Given the description of an element on the screen output the (x, y) to click on. 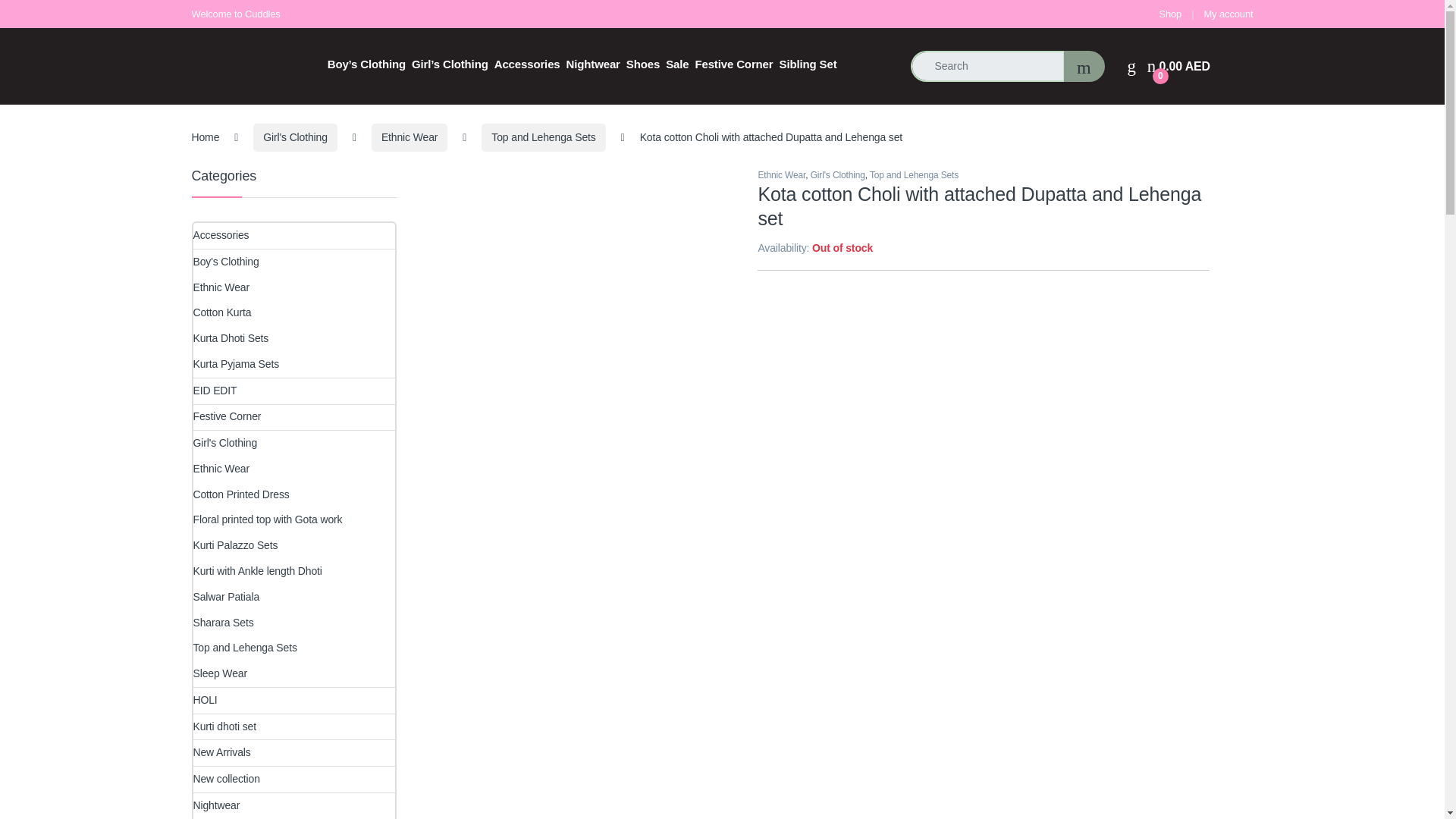
Sibling Set (807, 63)
My account (1228, 13)
Nightwear (1178, 66)
Welcome to Cuddles (593, 63)
Sale (234, 13)
Festive Corner (676, 63)
My account (733, 63)
Accessories (1228, 13)
Shoes (527, 63)
